Given the description of an element on the screen output the (x, y) to click on. 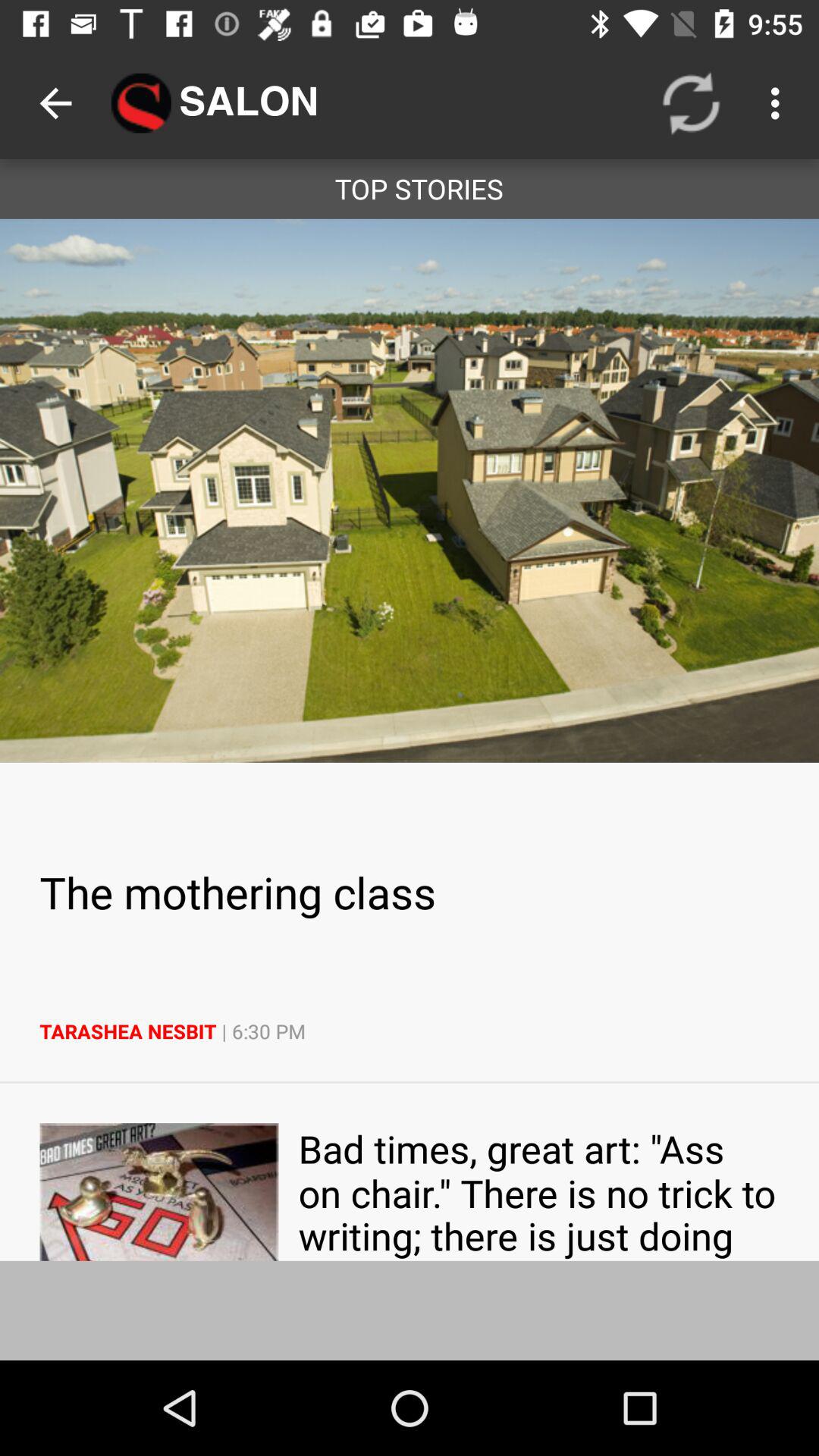
click icon below tarashea nesbit 6 app (538, 1191)
